Given the description of an element on the screen output the (x, y) to click on. 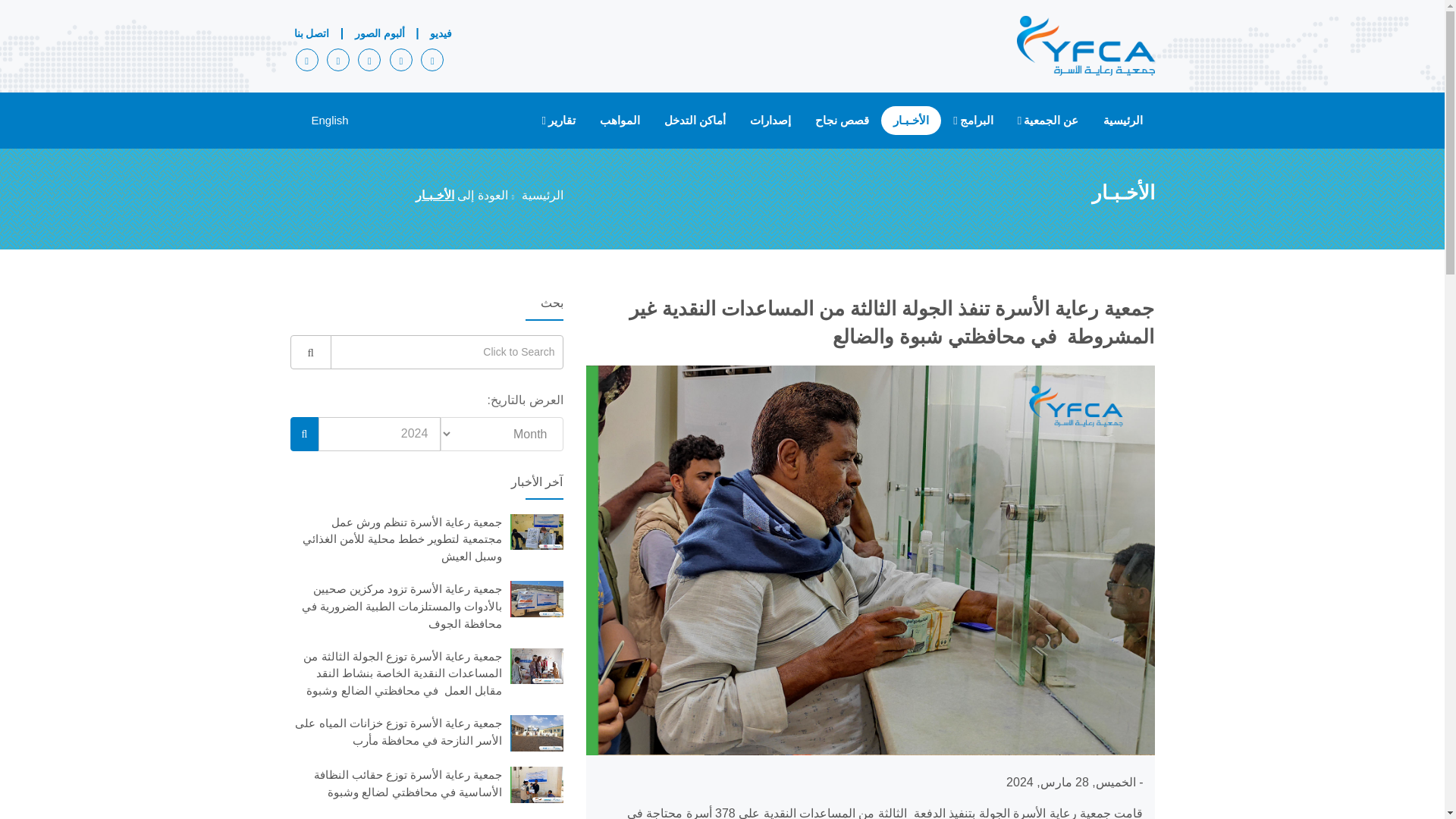
English (330, 120)
